Given the description of an element on the screen output the (x, y) to click on. 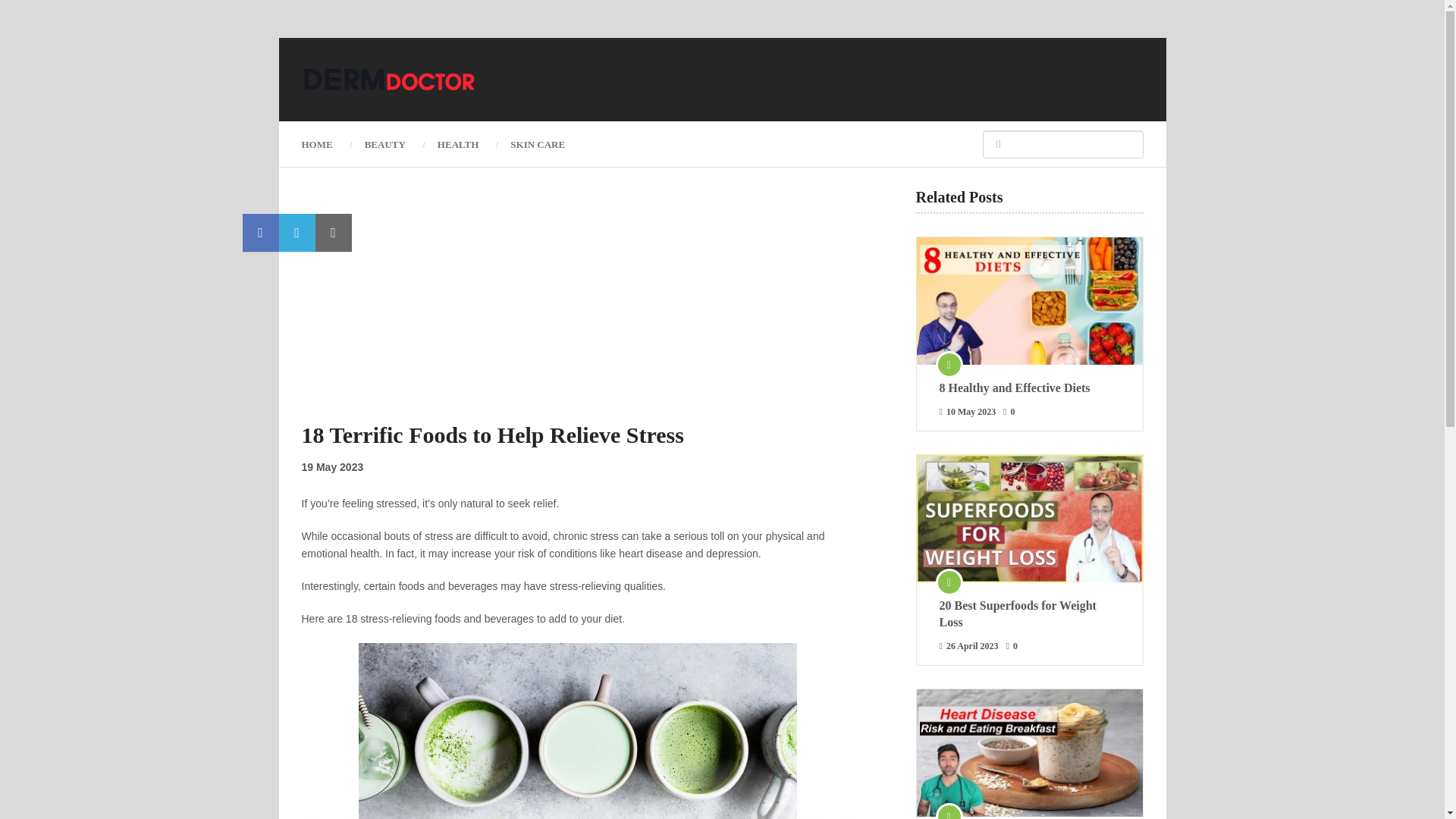
20 Best Superfoods for Weight Loss (1029, 613)
8 Healthy and Effective Diets (1029, 388)
SKIN CARE (537, 143)
20 Best Superfoods for Weight Loss (1029, 613)
8 Healthy and Effective Diets (1029, 388)
20 Best Superfoods for Weight Loss (1028, 518)
8 Healthy and Effective Diets (1028, 300)
BEAUTY (385, 143)
HOME (325, 143)
HEALTH (458, 143)
Eating Breakfast Every Morning May Be Better for Your Heart (1028, 752)
